Given the description of an element on the screen output the (x, y) to click on. 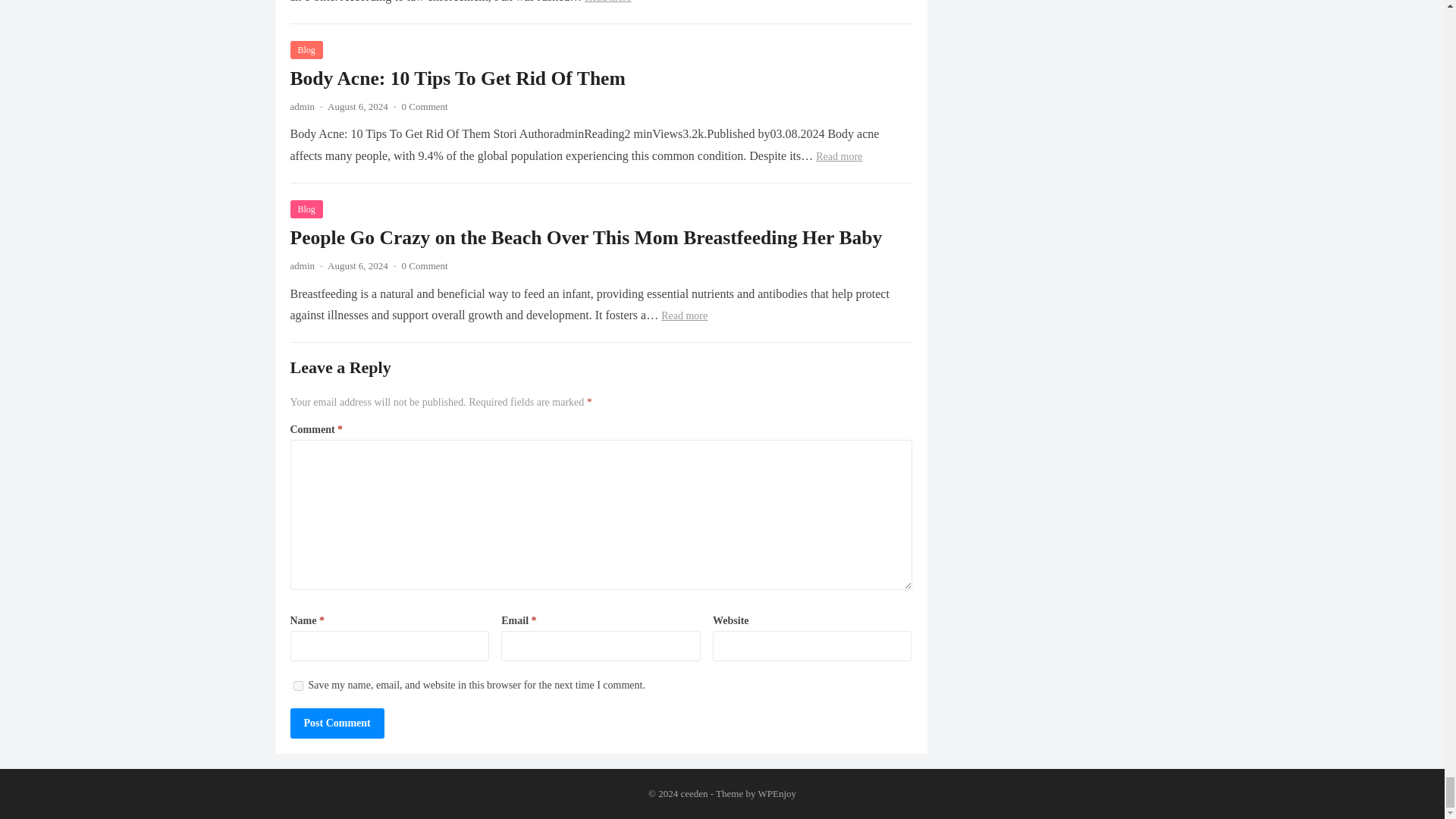
admin (301, 265)
0 Comment (424, 265)
Read more (607, 1)
admin (301, 106)
Posts by admin (301, 265)
Post Comment (336, 723)
Read more (838, 156)
yes (297, 685)
Posts by admin (301, 106)
